Given the description of an element on the screen output the (x, y) to click on. 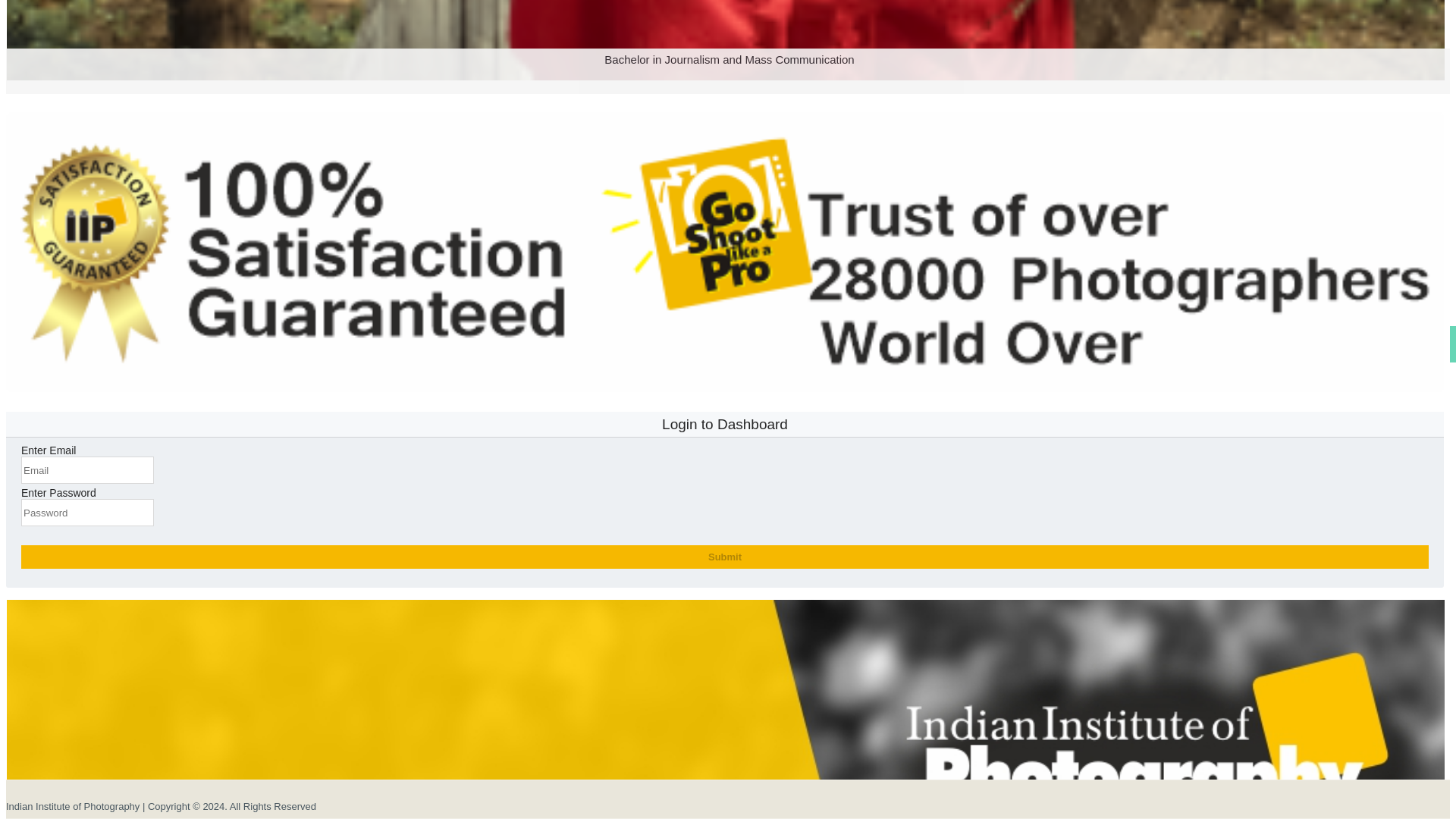
Submit (724, 556)
Submit (724, 556)
Bachelor in Journalism and Mass Communication (725, 100)
